Given the description of an element on the screen output the (x, y) to click on. 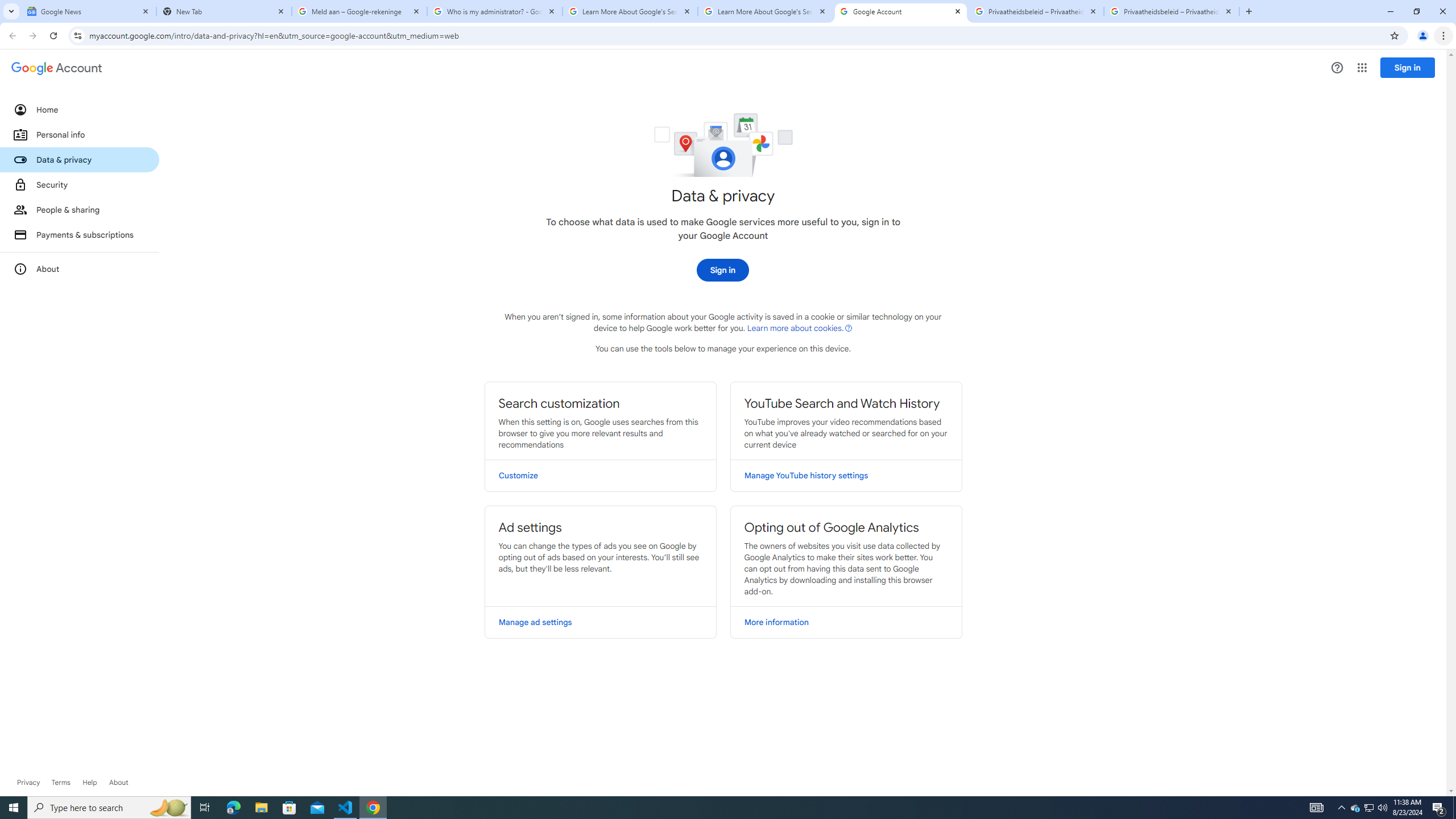
Data & privacy (79, 159)
More information (846, 622)
Customize (600, 475)
Personal info (79, 134)
Manage ad settings (600, 622)
Learn more about Google Account (118, 782)
Google News (88, 11)
